Given the description of an element on the screen output the (x, y) to click on. 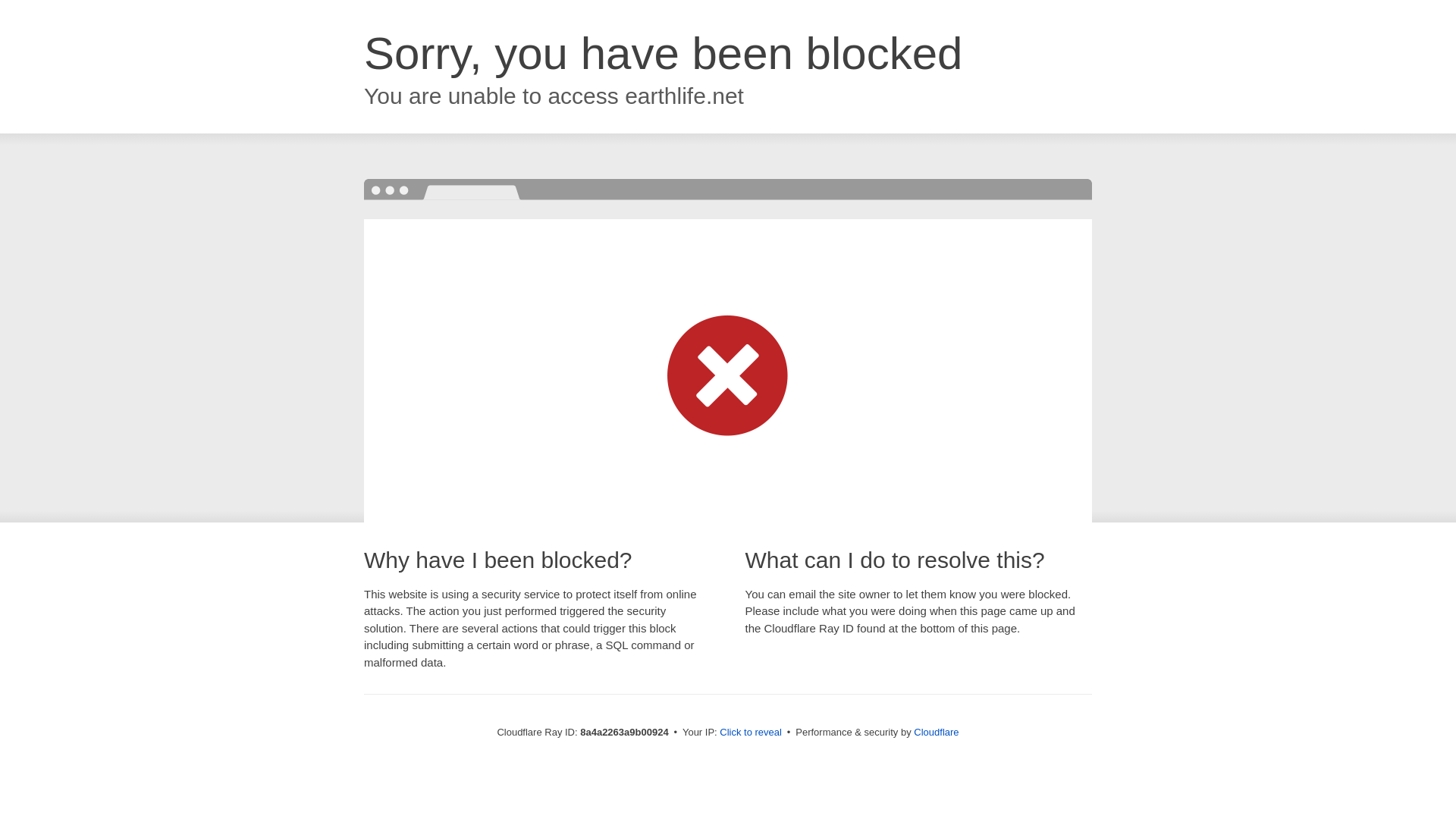
Cloudflare (936, 731)
Click to reveal (750, 732)
